Given the description of an element on the screen output the (x, y) to click on. 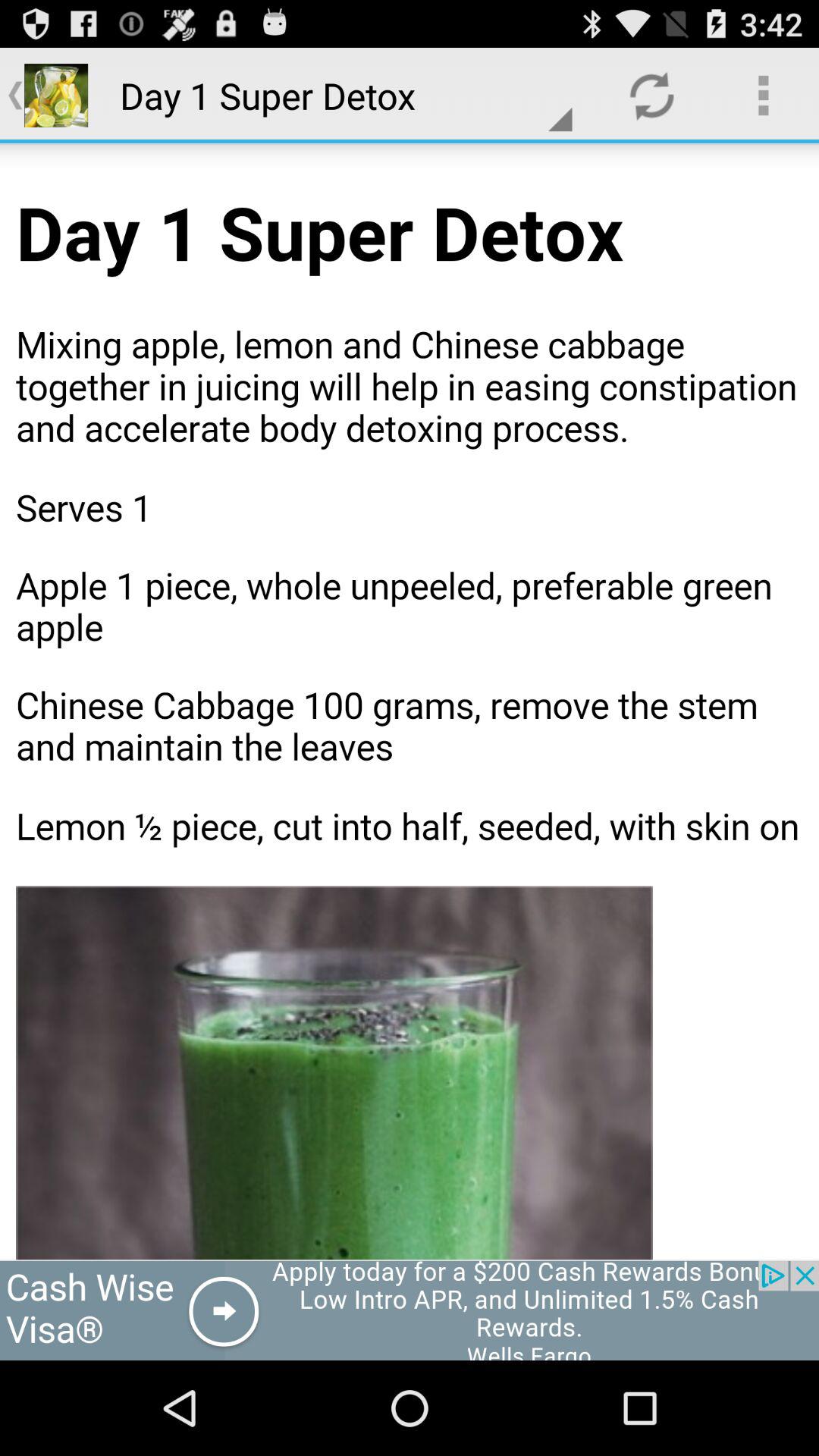
open webpage of displayed advertisement (409, 1310)
